Given the description of an element on the screen output the (x, y) to click on. 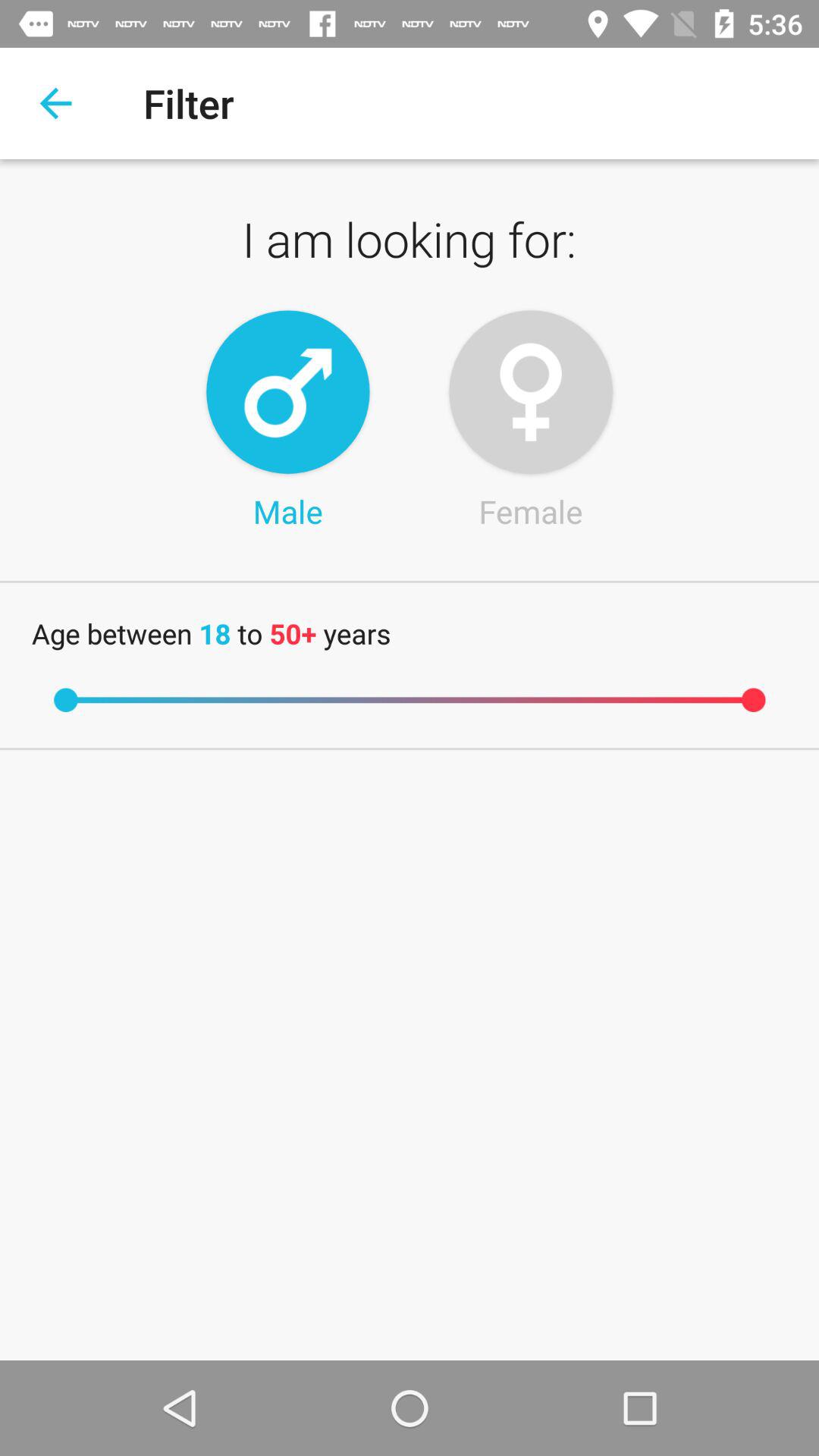
return (55, 103)
